Given the description of an element on the screen output the (x, y) to click on. 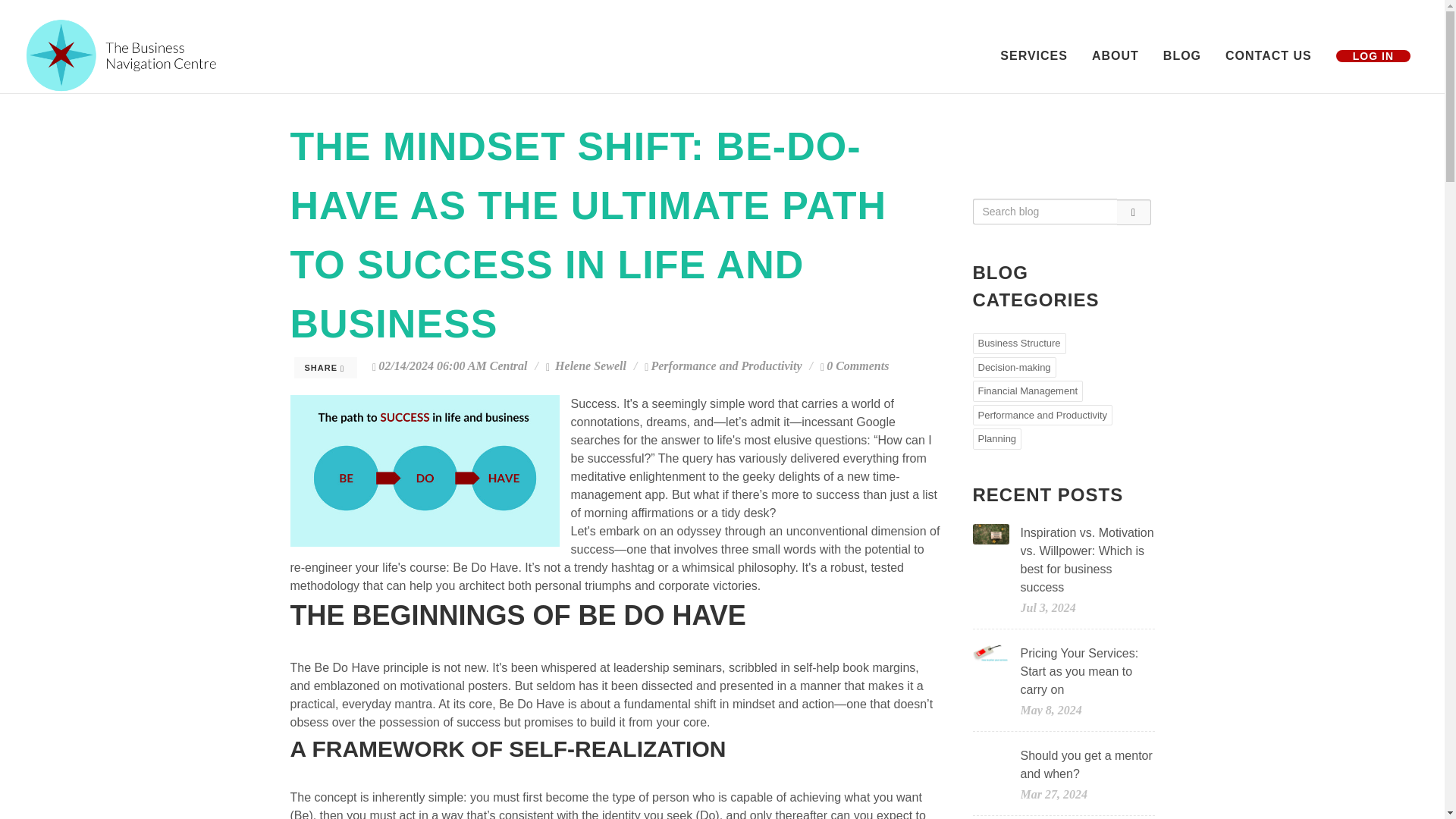
ABOUT (1115, 56)
Performance and Productivity (1042, 414)
Financial Management (1027, 391)
CONTACT US (1268, 56)
SHARE (326, 367)
Performance and Productivity (726, 365)
Business Structure (1018, 342)
Planning (997, 438)
Decision-making (1013, 366)
0 Comments (854, 365)
